Given the description of an element on the screen output the (x, y) to click on. 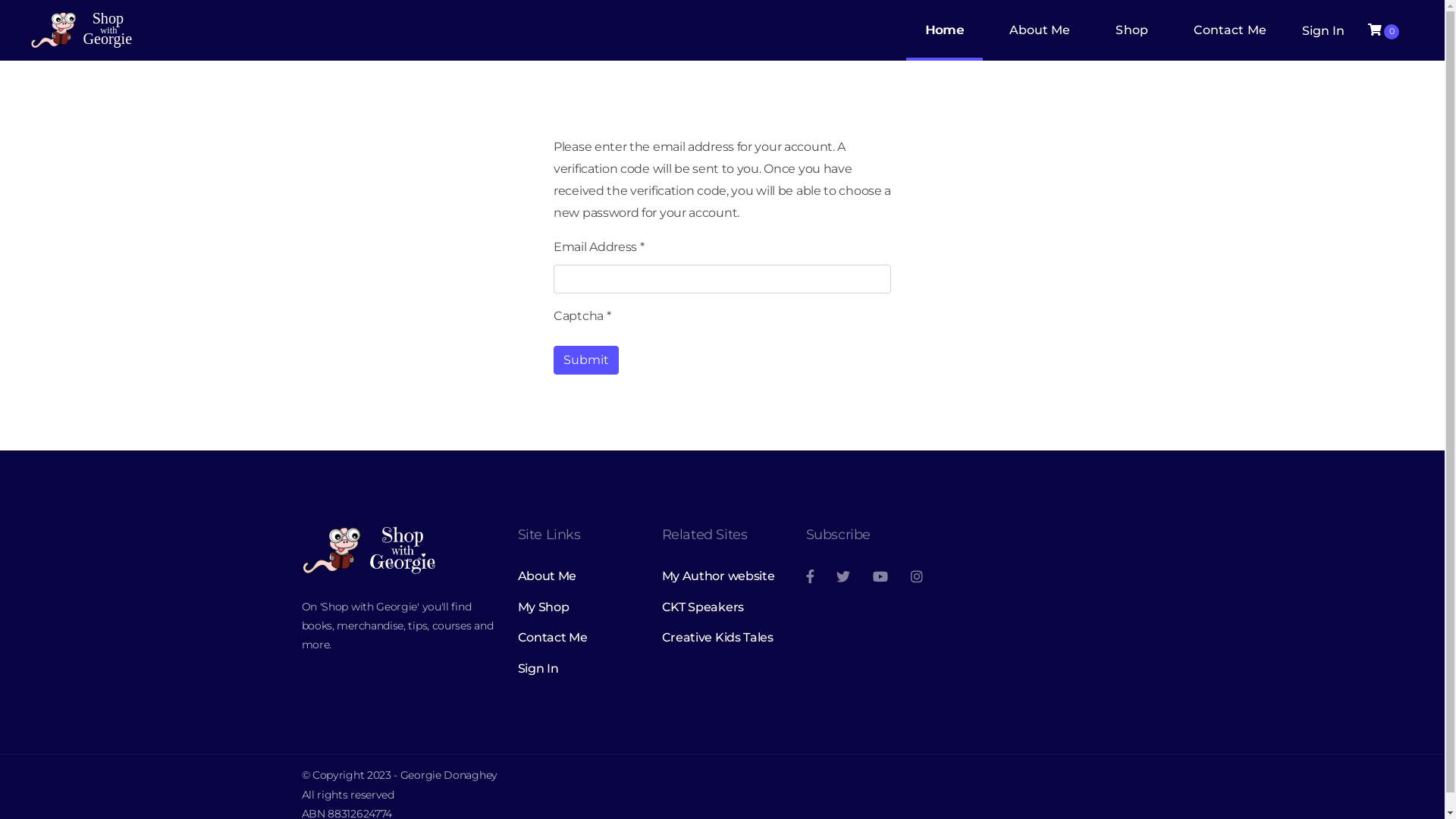
CKT Speakers Element type: text (721, 607)
About Me Element type: text (1039, 30)
Creative Kids Tales Element type: text (721, 637)
Home Element type: text (944, 30)
My Author website Element type: text (721, 576)
Sign In Element type: text (1320, 30)
0 Element type: text (1383, 29)
Contact Me Element type: text (577, 637)
Shop Element type: text (1131, 30)
My Shop Element type: text (577, 607)
About Me Element type: text (577, 576)
Sign In Element type: text (577, 668)
Contact Me Element type: text (1229, 30)
Submit Element type: text (585, 359)
